Given the description of an element on the screen output the (x, y) to click on. 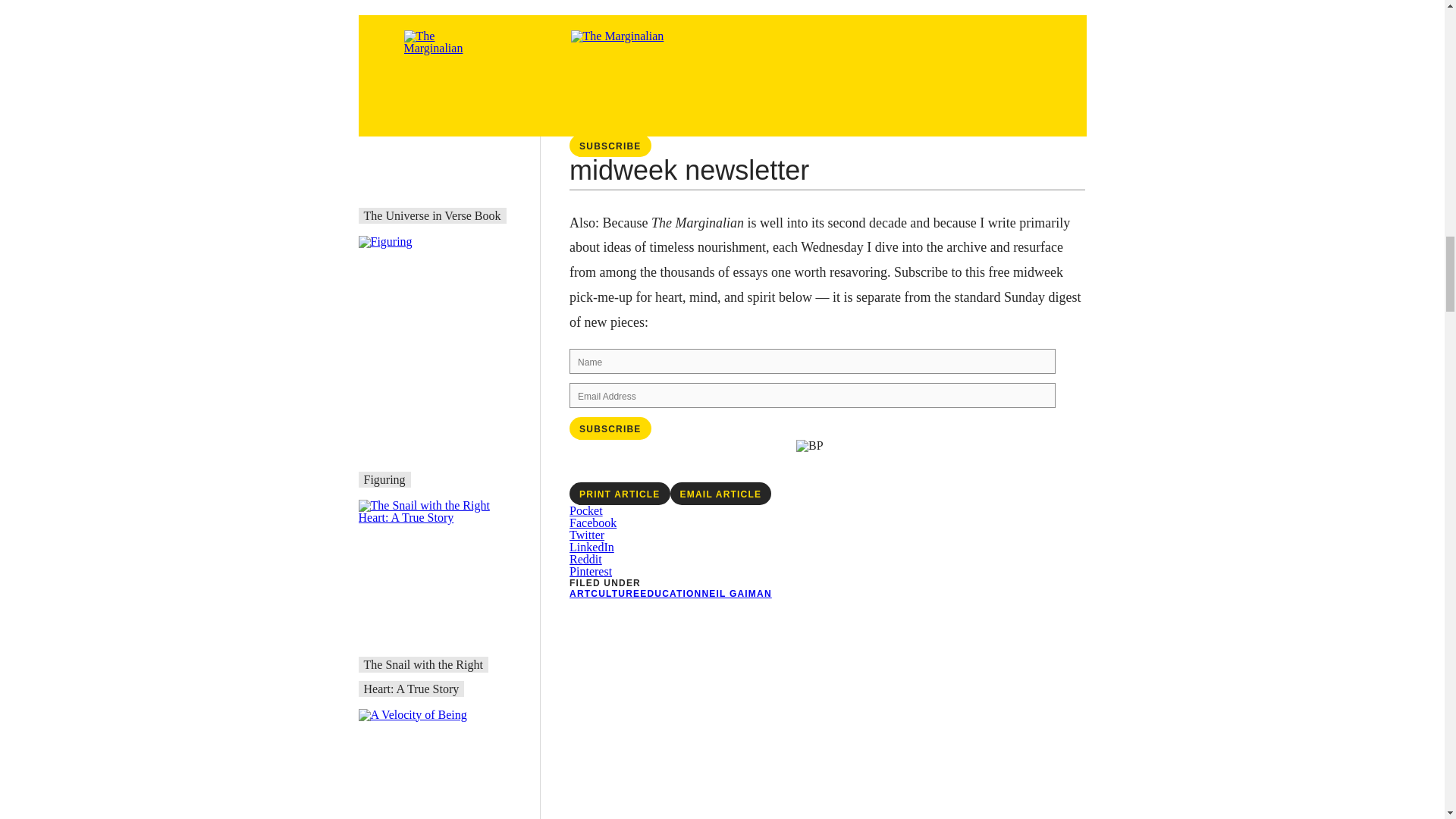
The Snail with the Right Heart: A True Story (423, 676)
Subscribe (609, 427)
Click to share on Facebook (592, 522)
Click to share on LinkedIn (591, 546)
Click to share on Pinterest (590, 571)
Figuring (385, 479)
Click to share on Pocket (585, 510)
Click to share on Twitter (586, 534)
Subscribe (609, 145)
The Universe in Verse Book (432, 215)
